Given the description of an element on the screen output the (x, y) to click on. 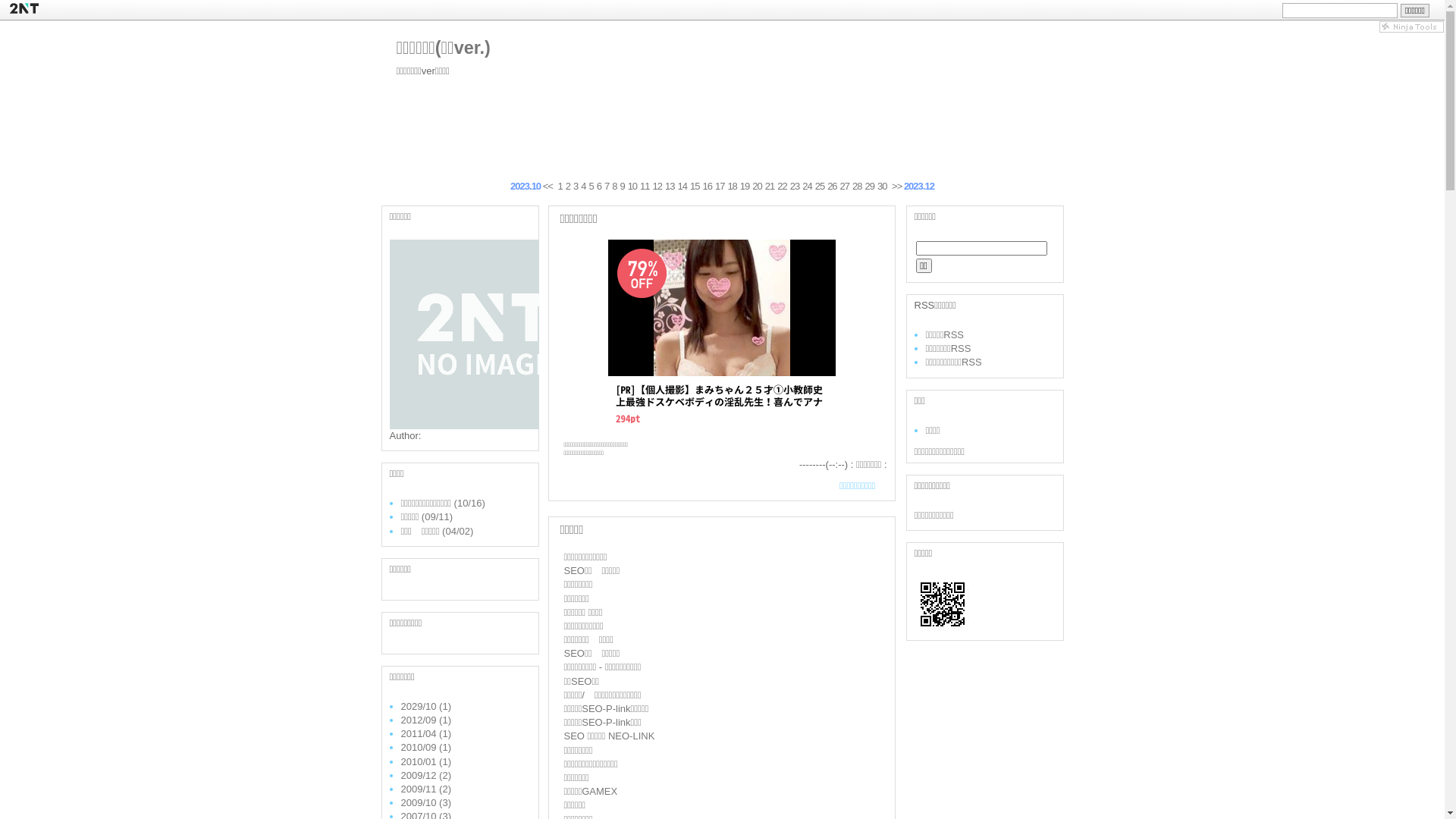
2009/12 (2) Element type: text (425, 775)
2010/01 (1) Element type: text (425, 760)
2011/04 (1) Element type: text (425, 733)
2009/11 (2) Element type: text (425, 788)
2029/10 (1) Element type: text (425, 706)
2023.10 Element type: text (525, 185)
2012/09 (1) Element type: text (425, 719)
2009/10 (3) Element type: text (425, 802)
2023.12 Element type: text (918, 185)
2010/09 (1) Element type: text (425, 747)
